Given the description of an element on the screen output the (x, y) to click on. 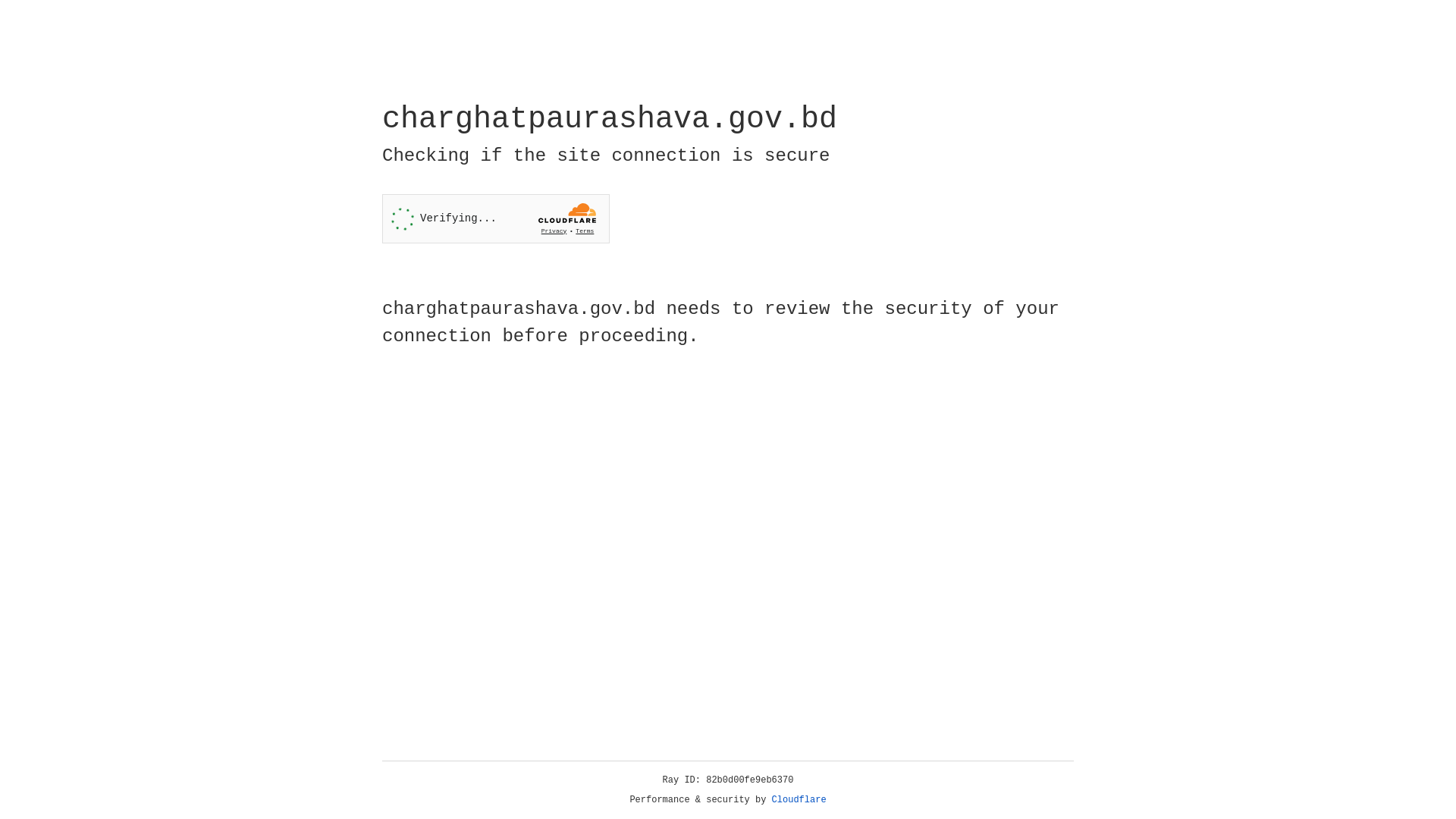
Cloudflare Element type: text (798, 799)
Widget containing a Cloudflare security challenge Element type: hover (495, 218)
